Given the description of an element on the screen output the (x, y) to click on. 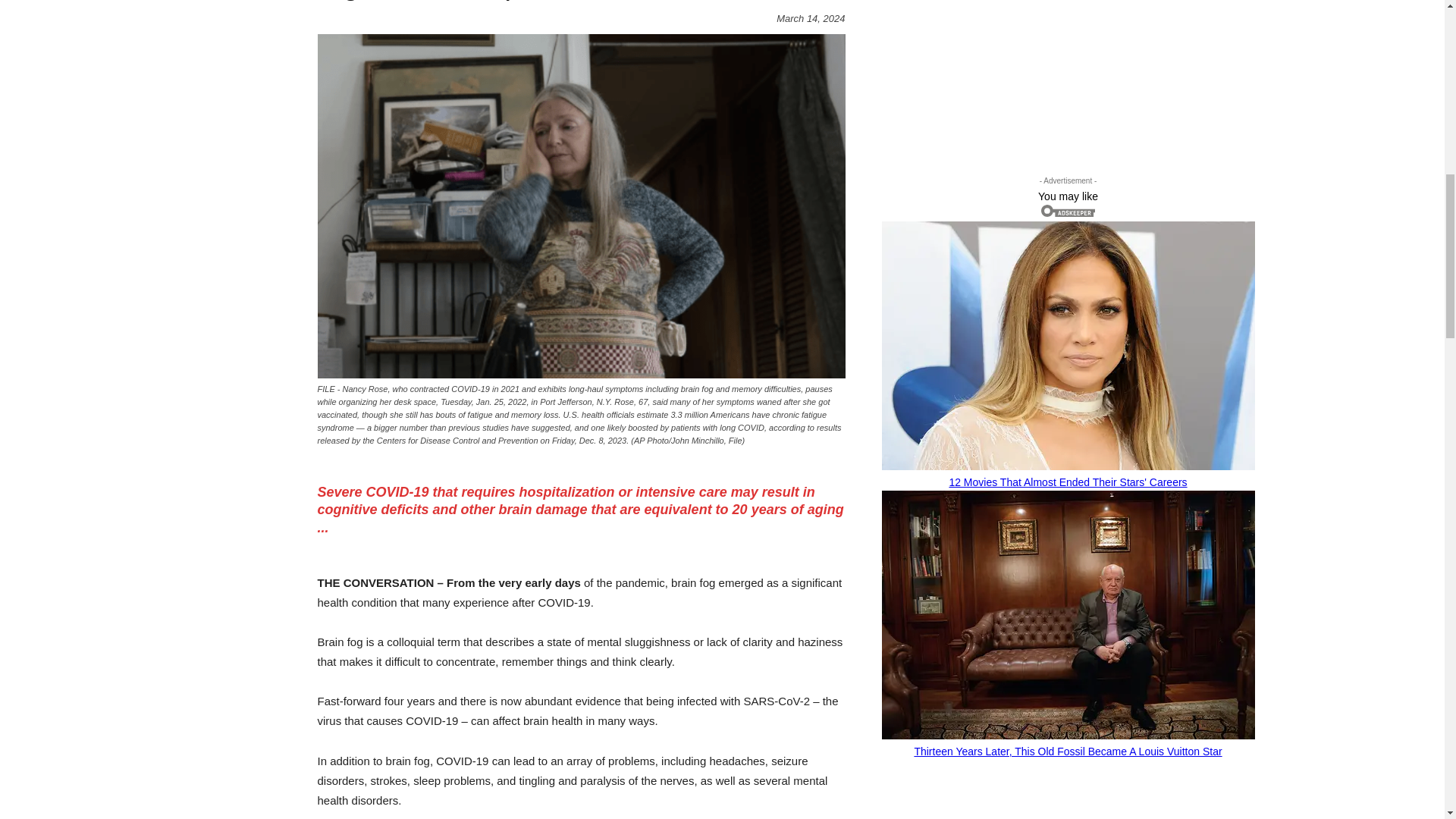
Advertisement (1003, 69)
